Given the description of an element on the screen output the (x, y) to click on. 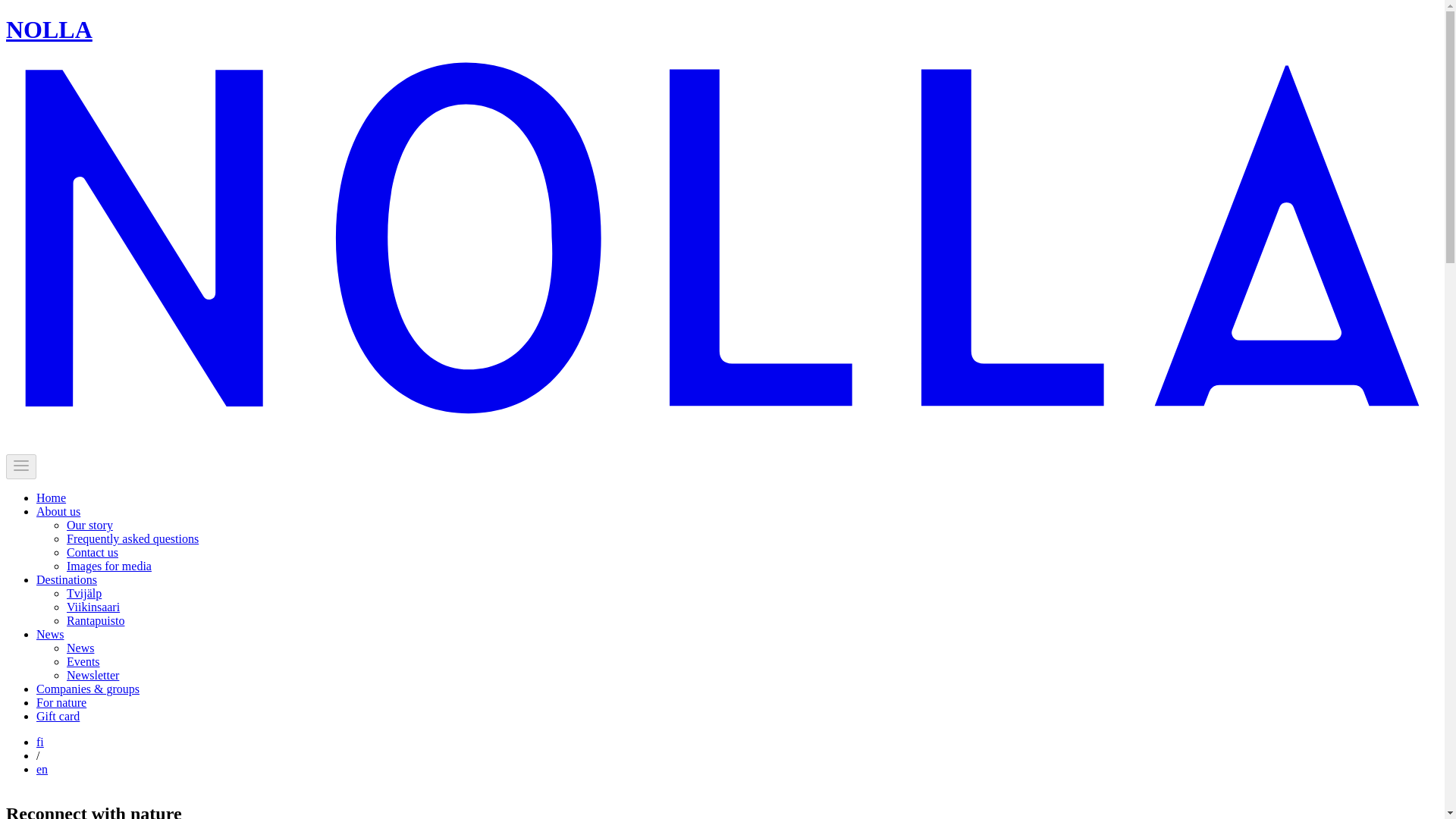
Contact us (91, 552)
Destinations (66, 579)
Events (83, 661)
Gift card (58, 716)
Newsletter (92, 675)
Frequently asked questions (132, 538)
Rantapuisto (94, 620)
News (50, 634)
Our story (89, 524)
Viikinsaari (92, 606)
Images for media (108, 565)
News (80, 647)
For nature (60, 702)
Home (50, 497)
About us (58, 511)
